Given the description of an element on the screen output the (x, y) to click on. 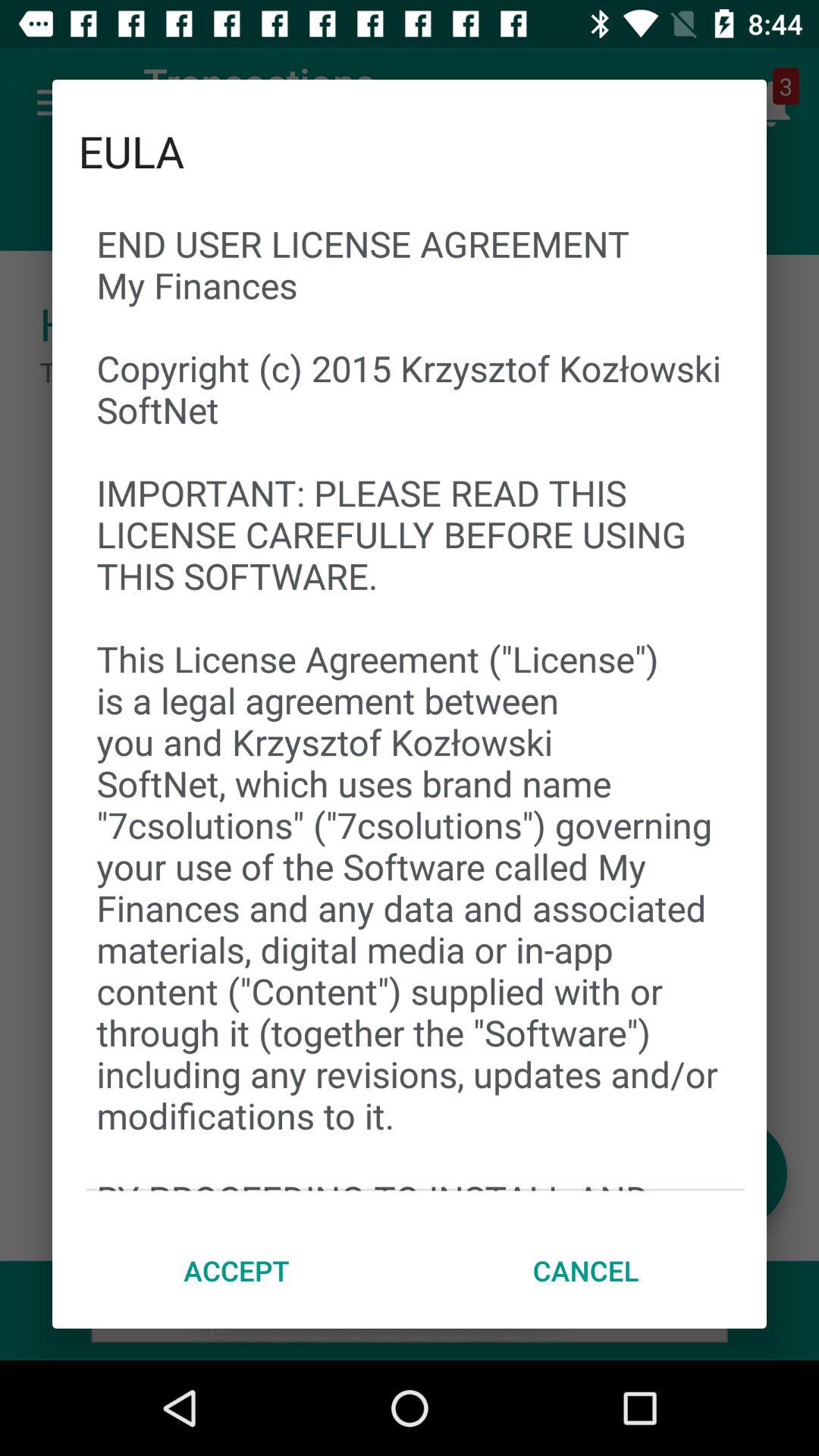
turn off the cancel item (585, 1270)
